Given the description of an element on the screen output the (x, y) to click on. 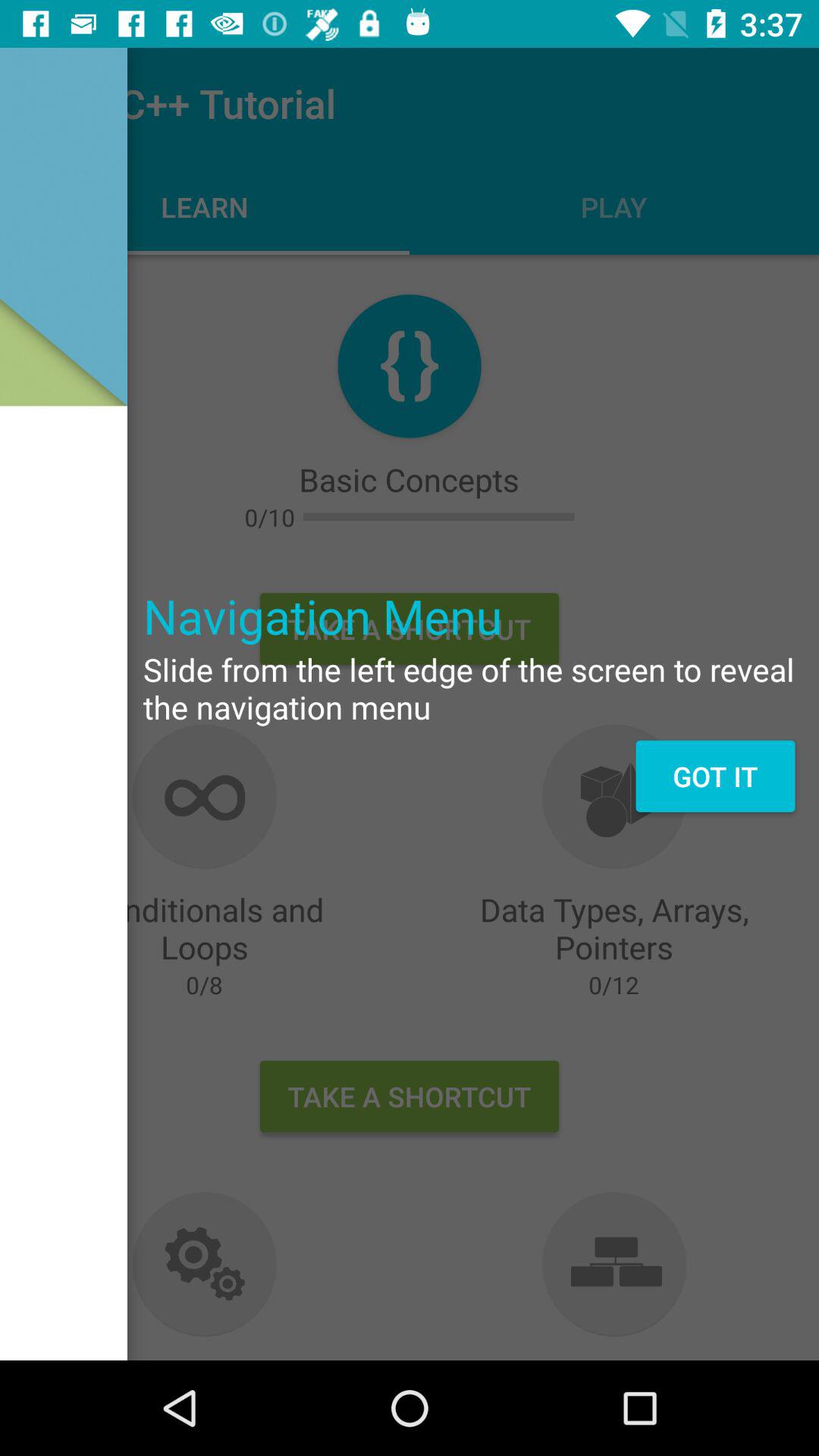
click icon on the right (715, 776)
